Given the description of an element on the screen output the (x, y) to click on. 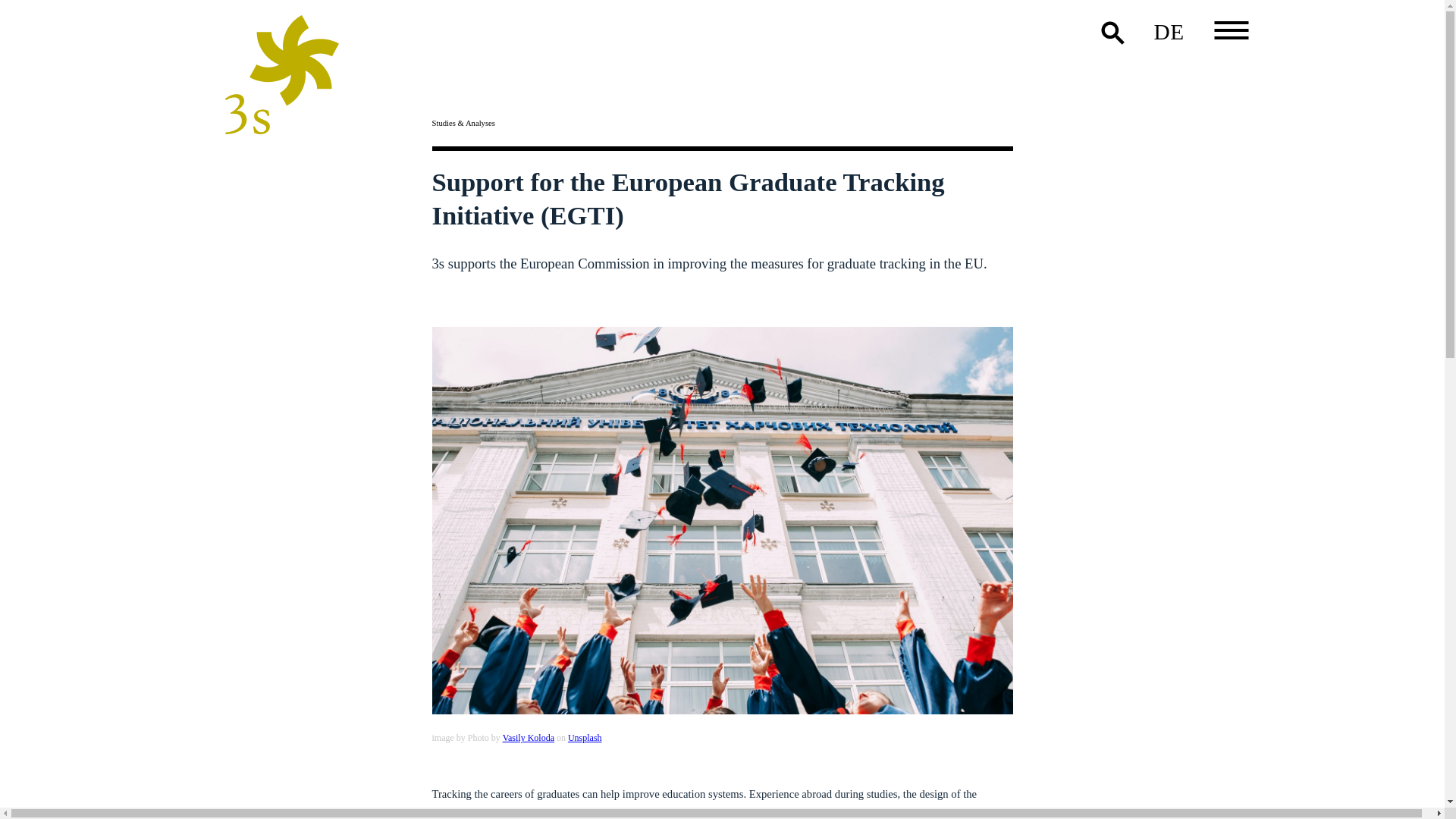
Vasily Koloda (528, 737)
Unsplash (584, 737)
